Given the description of an element on the screen output the (x, y) to click on. 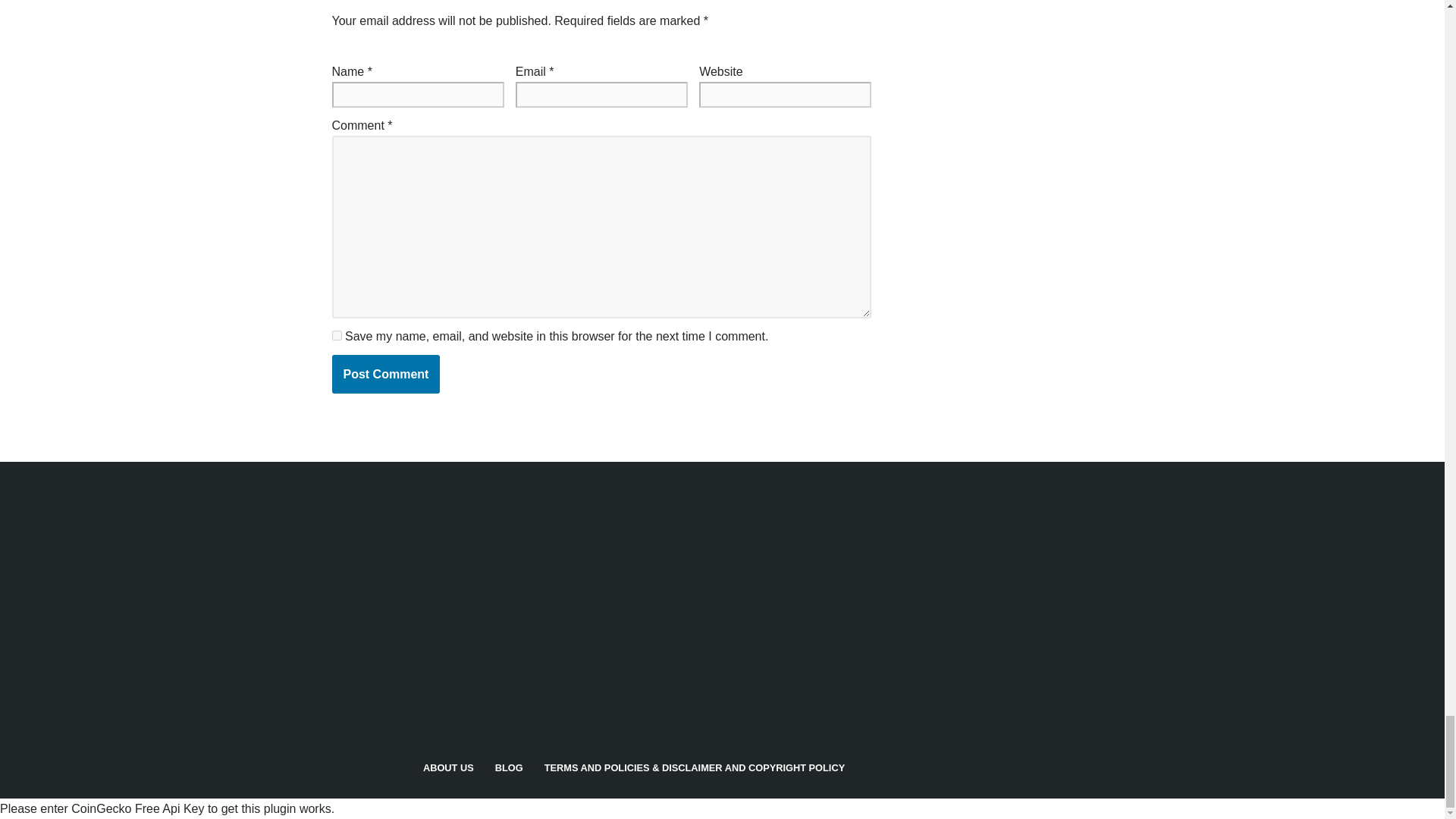
BLOG (508, 767)
ABOUT US (448, 767)
Post Comment (386, 373)
Post Comment (386, 373)
yes (336, 335)
